Given the description of an element on the screen output the (x, y) to click on. 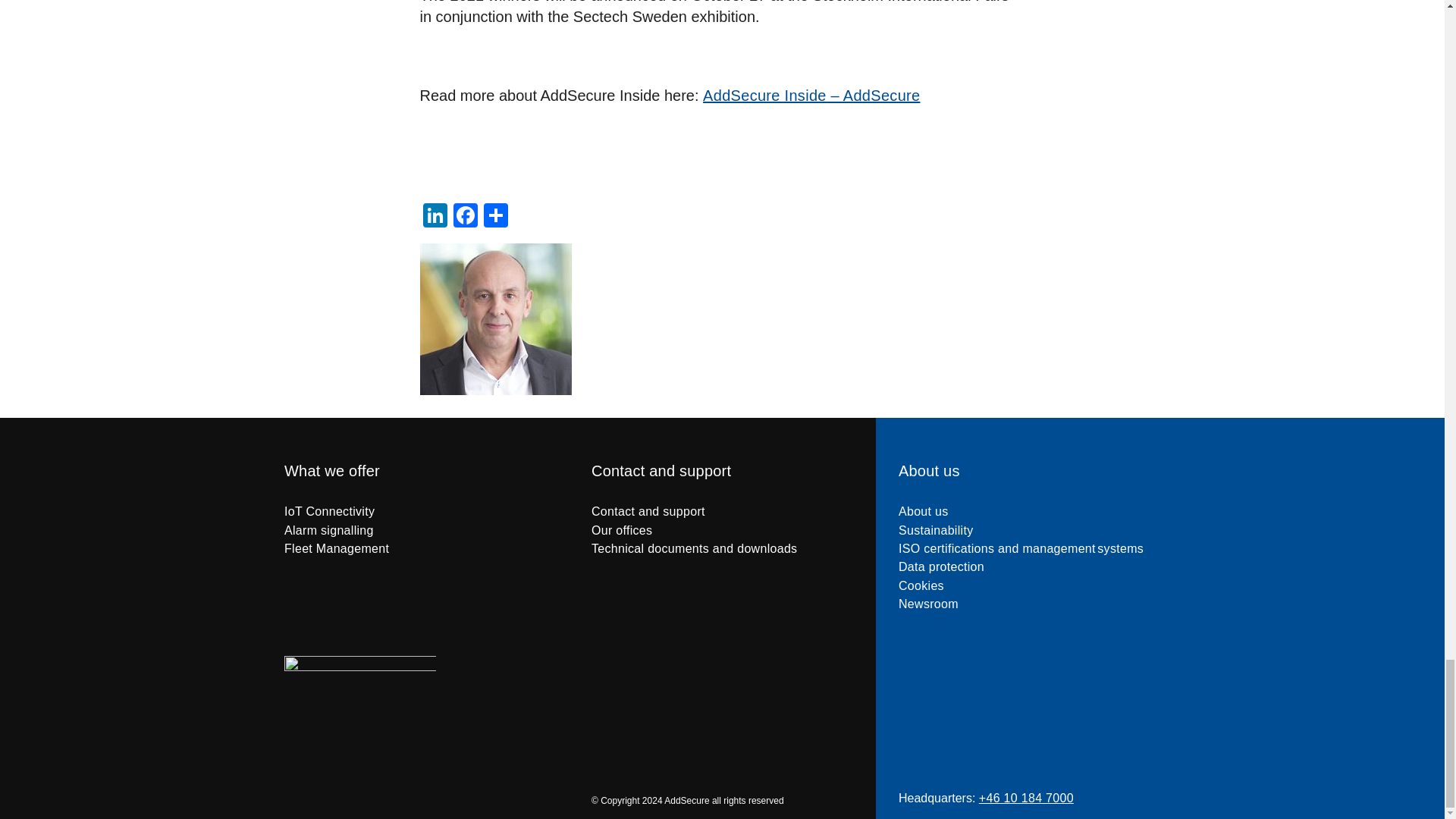
LinkedIn (434, 216)
Facebook (464, 216)
Sten Olsson AddSecure (496, 318)
AddSecure (359, 715)
